Given the description of an element on the screen output the (x, y) to click on. 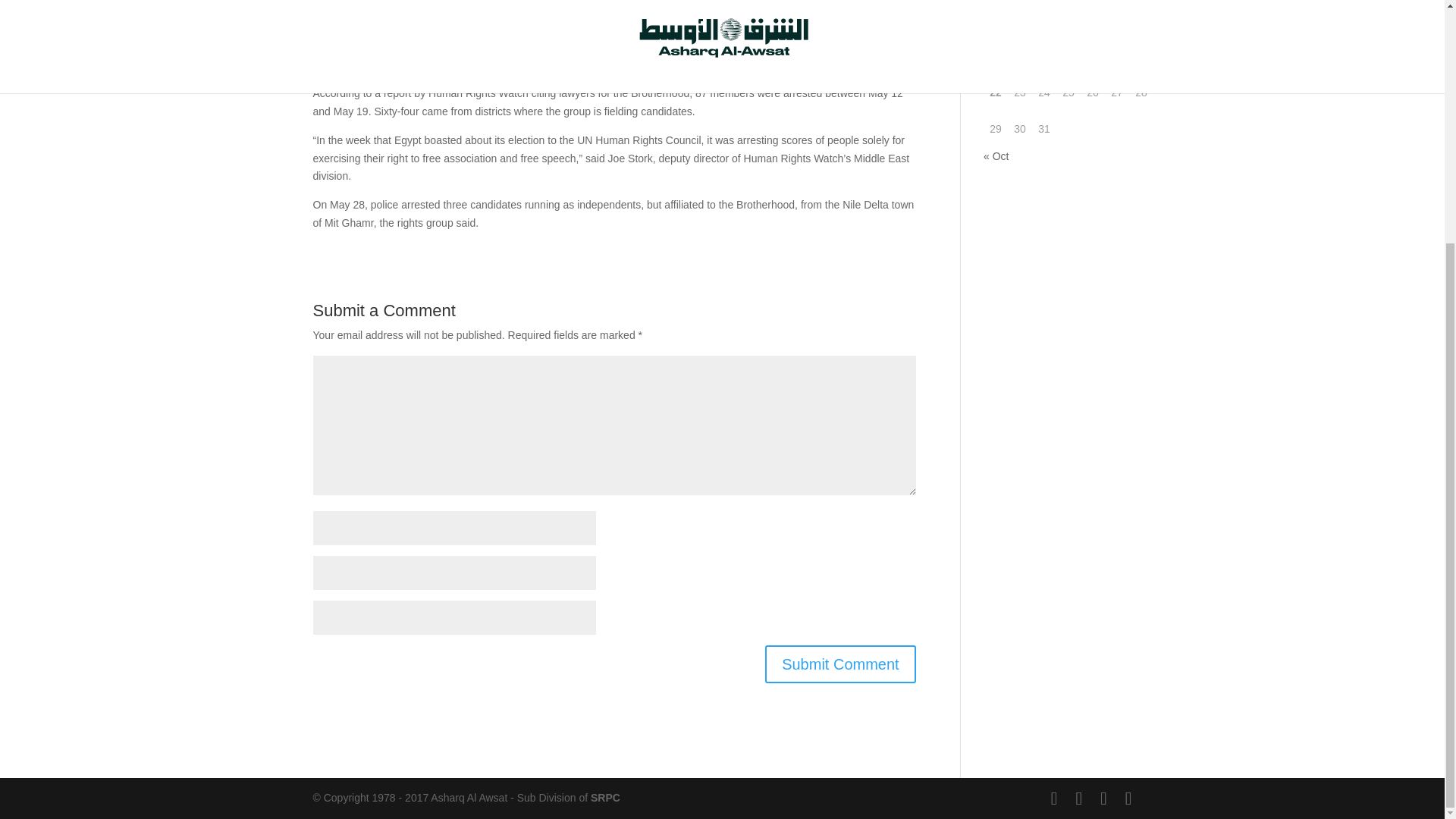
Submit Comment (840, 664)
Submit Comment (840, 664)
SRPC (605, 797)
